Given the description of an element on the screen output the (x, y) to click on. 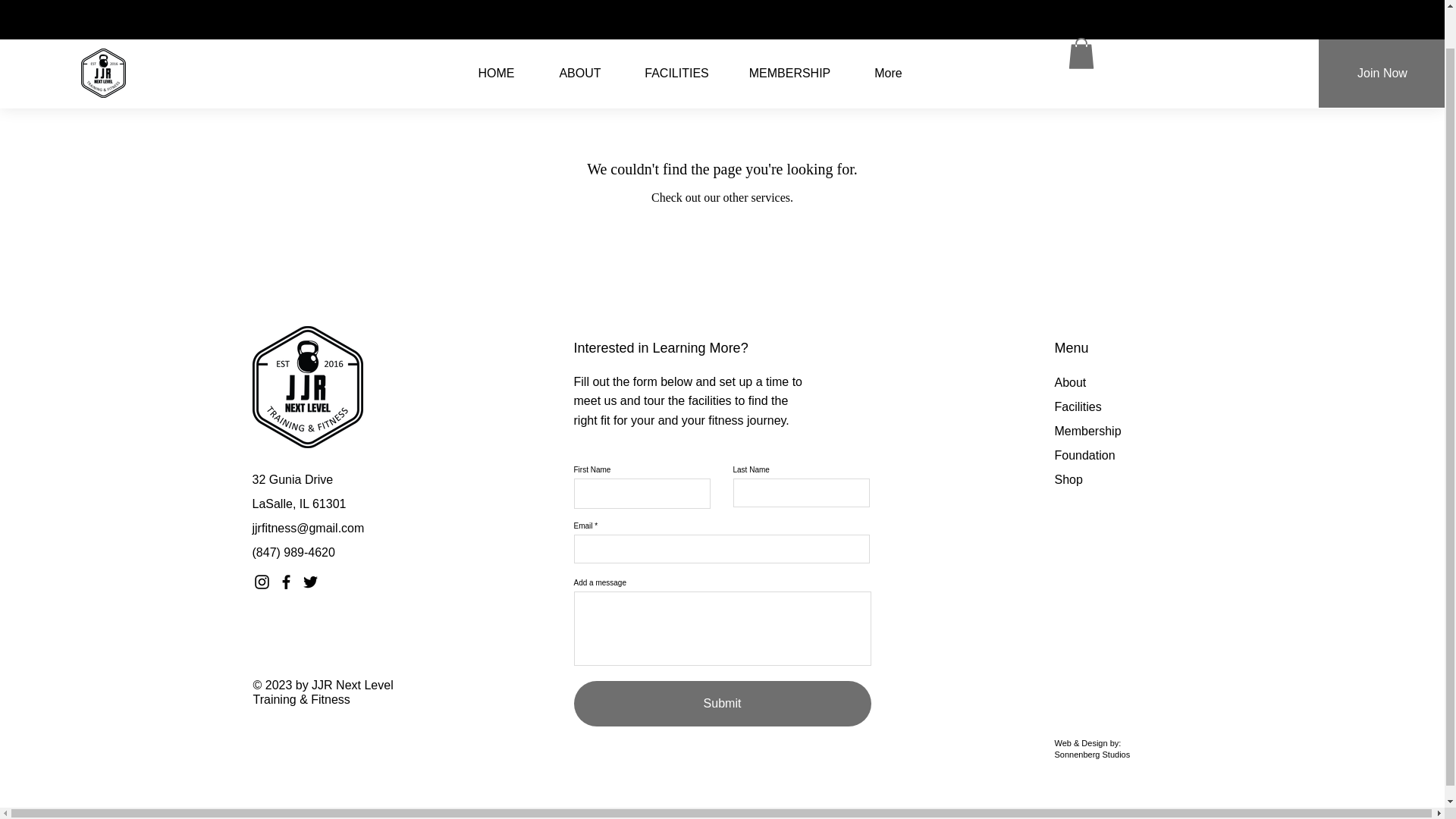
About (1070, 382)
JJR Next Level Logo.png (306, 386)
Membership (1087, 431)
ABOUT (580, 32)
Shop (1067, 479)
Foundation (1084, 454)
HOME (497, 32)
Submit (721, 703)
Facilities (1077, 406)
FACILITIES (676, 32)
MEMBERSHIP (788, 32)
